Given the description of an element on the screen output the (x, y) to click on. 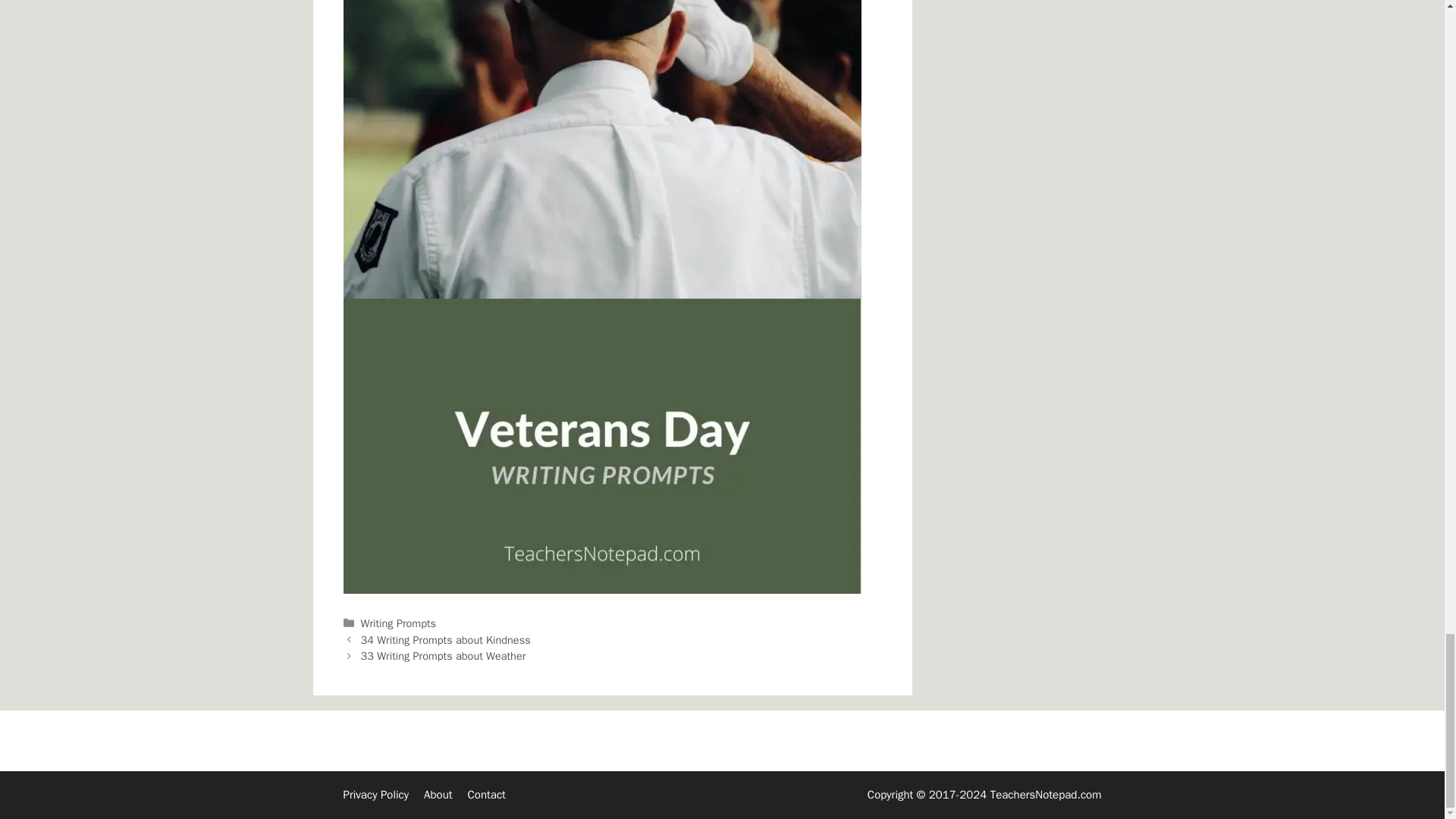
Writing Prompts (398, 622)
Privacy Policy (375, 794)
34 Writing Prompts about Kindness (446, 640)
Contact (486, 794)
33 Writing Prompts about Weather (443, 655)
About (437, 794)
